Given the description of an element on the screen output the (x, y) to click on. 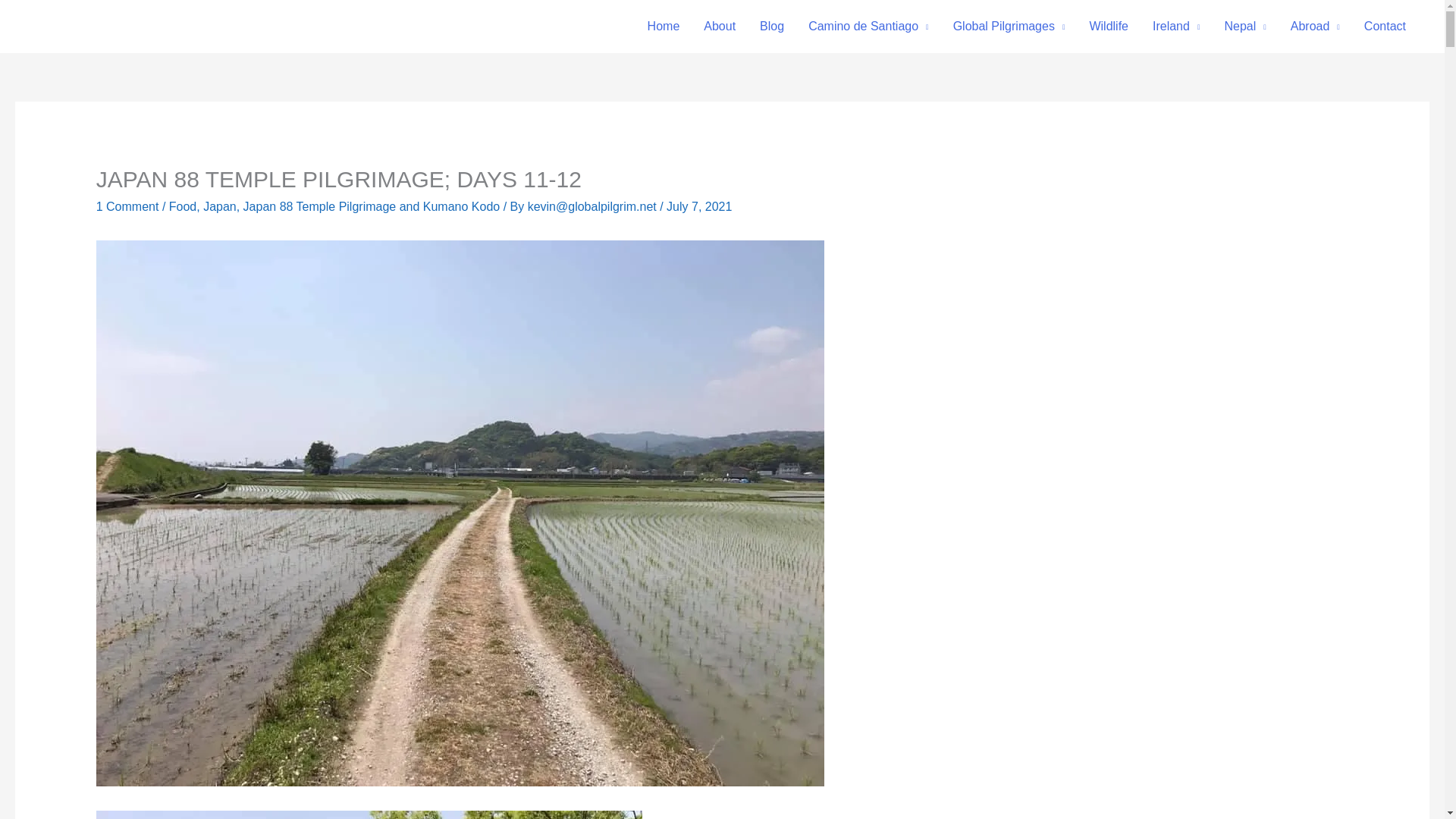
Blog (772, 26)
Wildlife (1108, 26)
Camino de Santiago (868, 26)
Ireland (1175, 26)
About (719, 26)
Home (663, 26)
Global Pilgrimages (1008, 26)
